Given the description of an element on the screen output the (x, y) to click on. 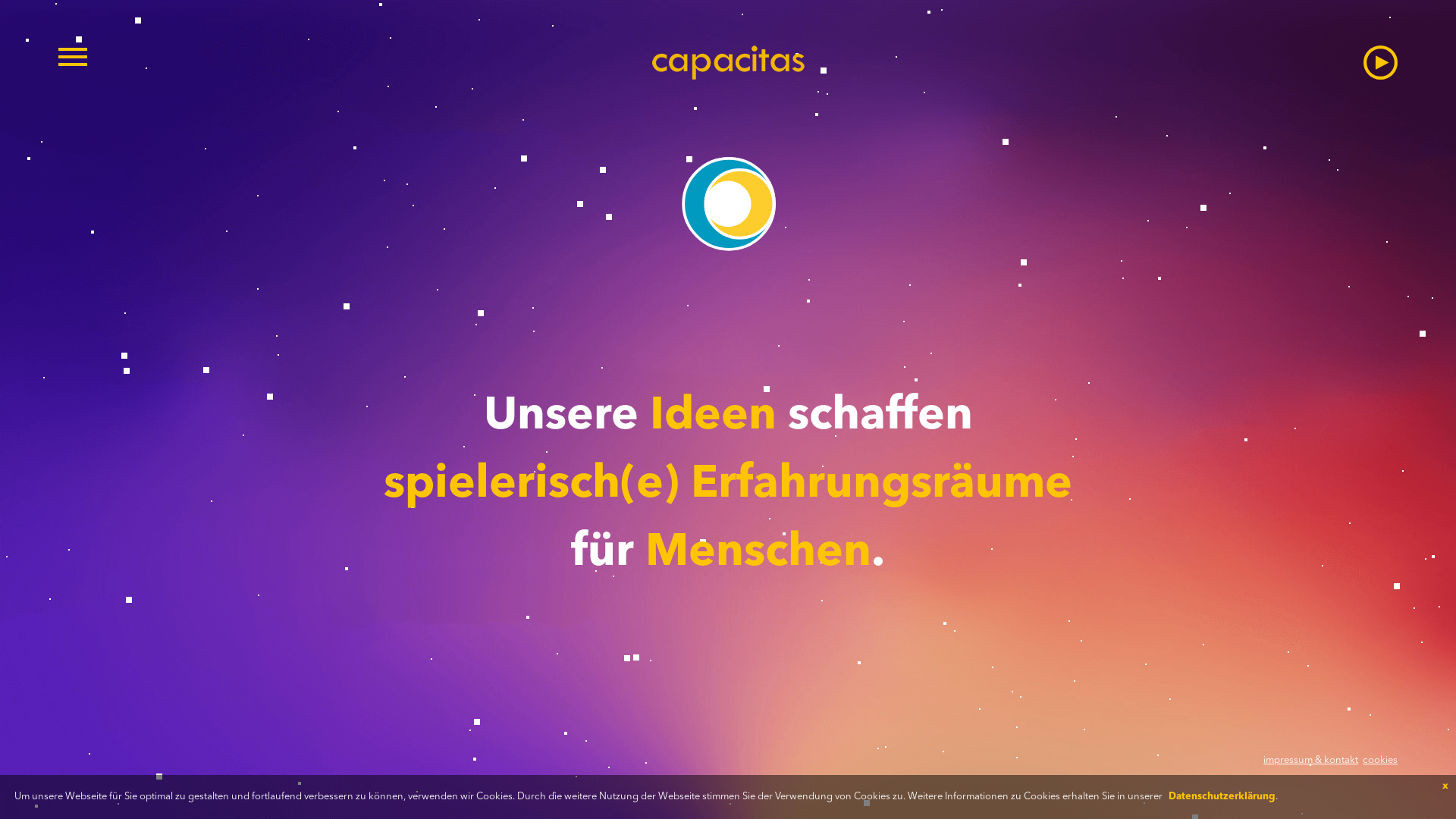
x Element type: text (1445, 786)
impressum & kontakt Element type: text (1310, 760)
Ideen Element type: text (712, 416)
Menschen Element type: text (758, 553)
cookies Element type: text (1379, 760)
